Given the description of an element on the screen output the (x, y) to click on. 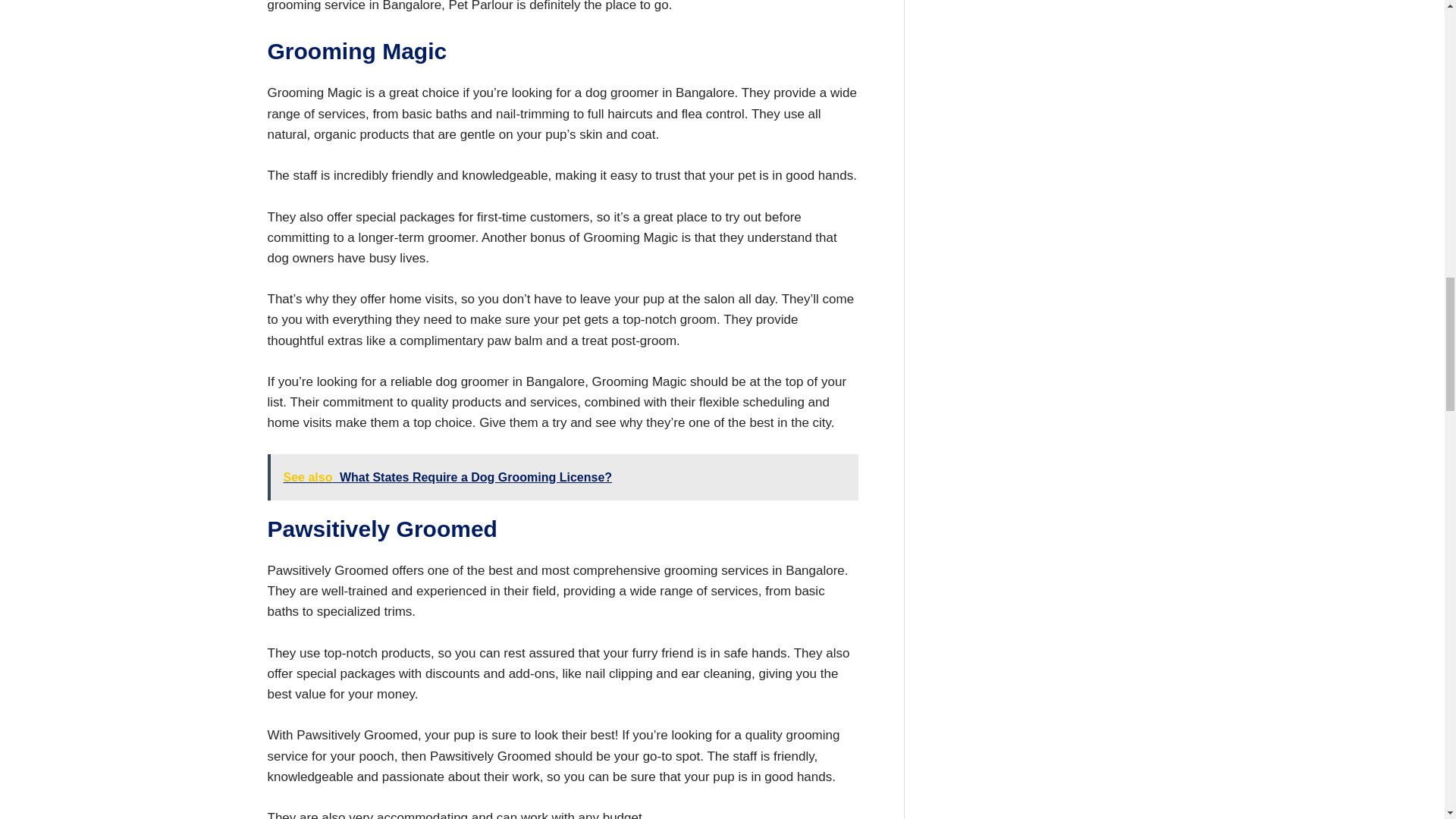
See also  What States Require a Dog Grooming License? (561, 477)
